Given the description of an element on the screen output the (x, y) to click on. 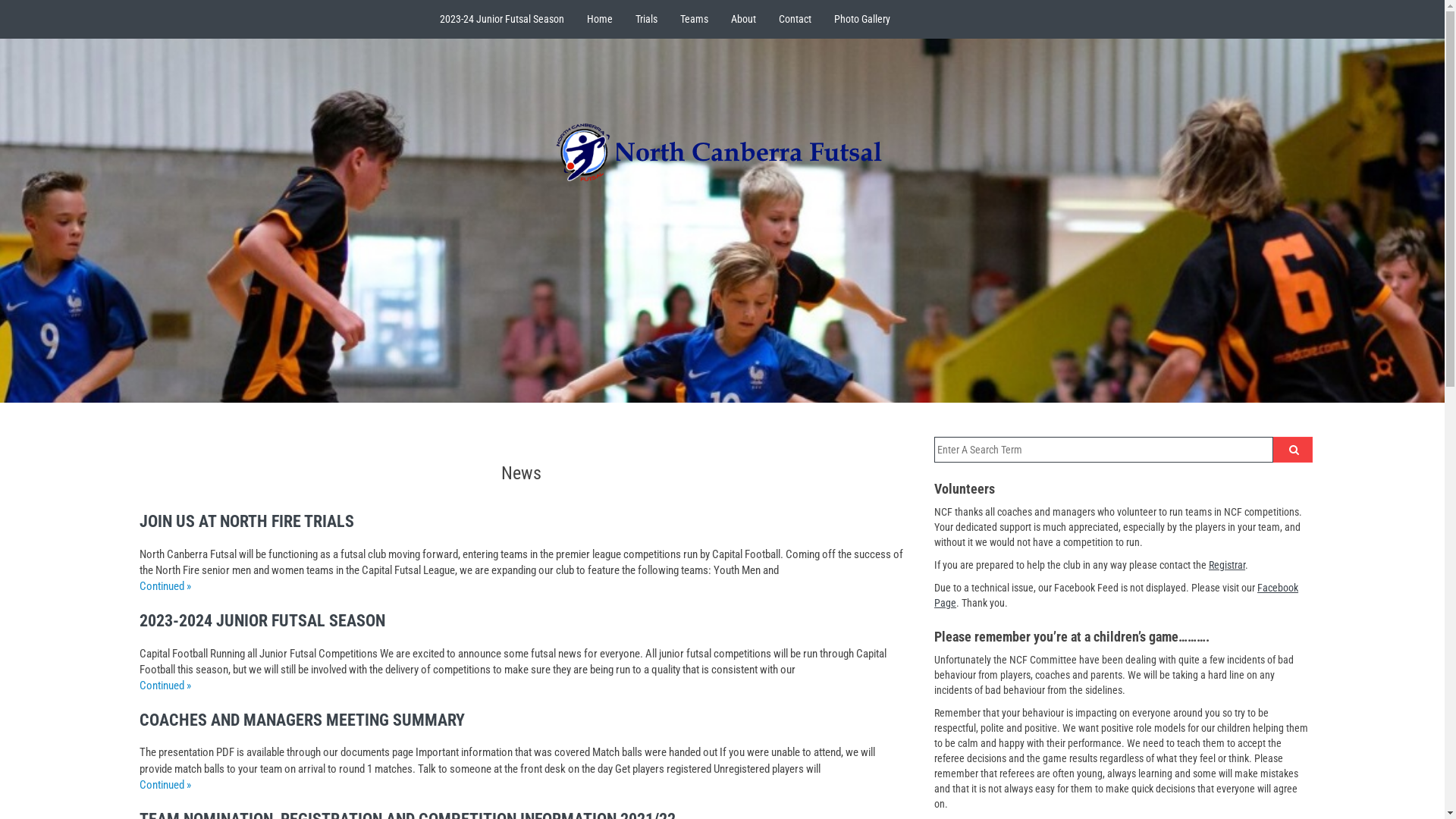
Teams Element type: text (693, 18)
2023-2024 JUNIOR FUTSAL SEASON Element type: text (262, 620)
2023-24 Junior Futsal Season Element type: text (501, 18)
About Element type: text (743, 18)
Facebook Page Element type: text (1116, 594)
Registrar Element type: text (1226, 564)
COACHES AND MANAGERS MEETING SUMMARY Element type: text (301, 719)
Trials Element type: text (646, 18)
Contact Element type: text (794, 18)
Home Element type: text (599, 18)
Photo Gallery Element type: text (861, 18)
JOIN US AT NORTH FIRE TRIALS Element type: text (246, 520)
